Given the description of an element on the screen output the (x, y) to click on. 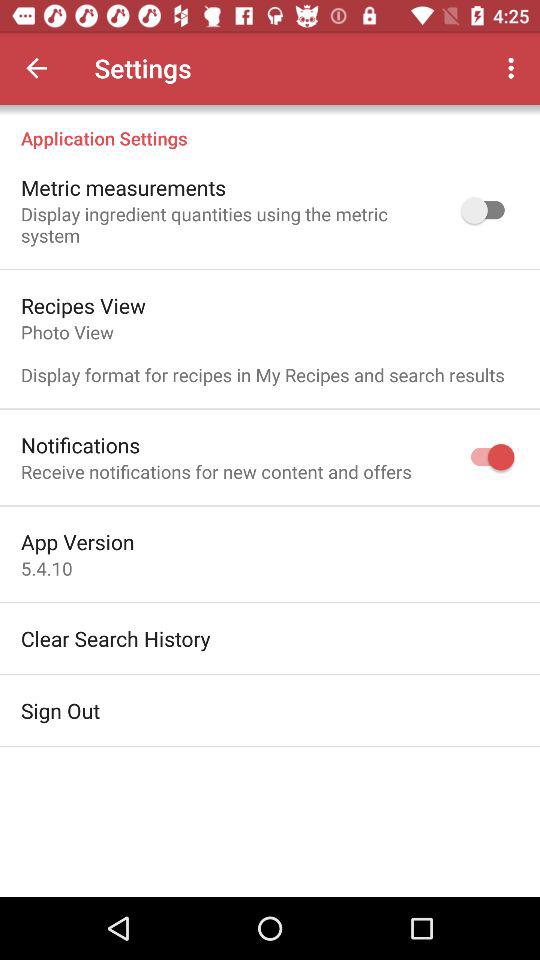
scroll to the 5.4.10 (46, 568)
